Given the description of an element on the screen output the (x, y) to click on. 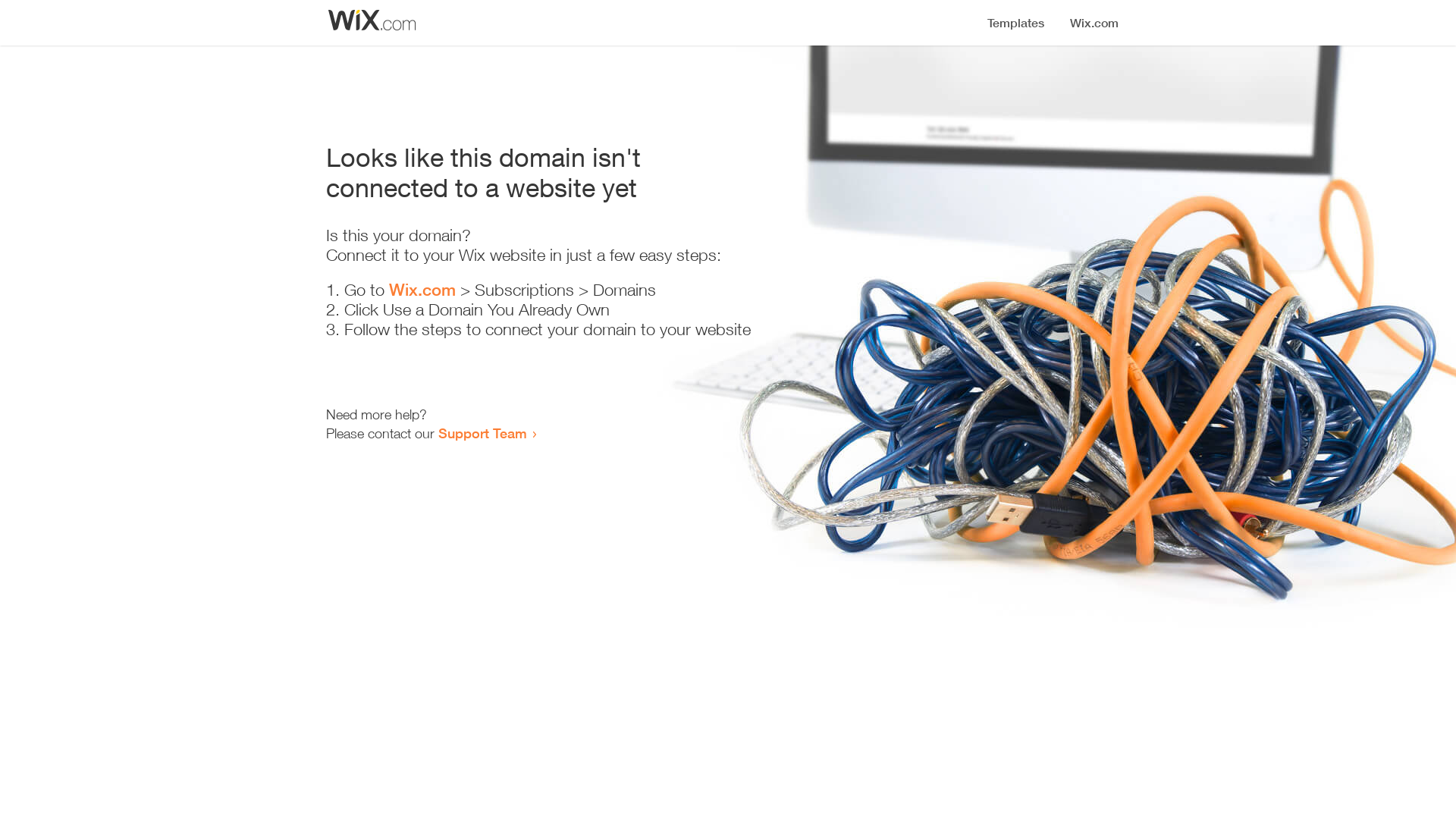
Support Team Element type: text (482, 432)
Wix.com Element type: text (422, 289)
